Given the description of an element on the screen output the (x, y) to click on. 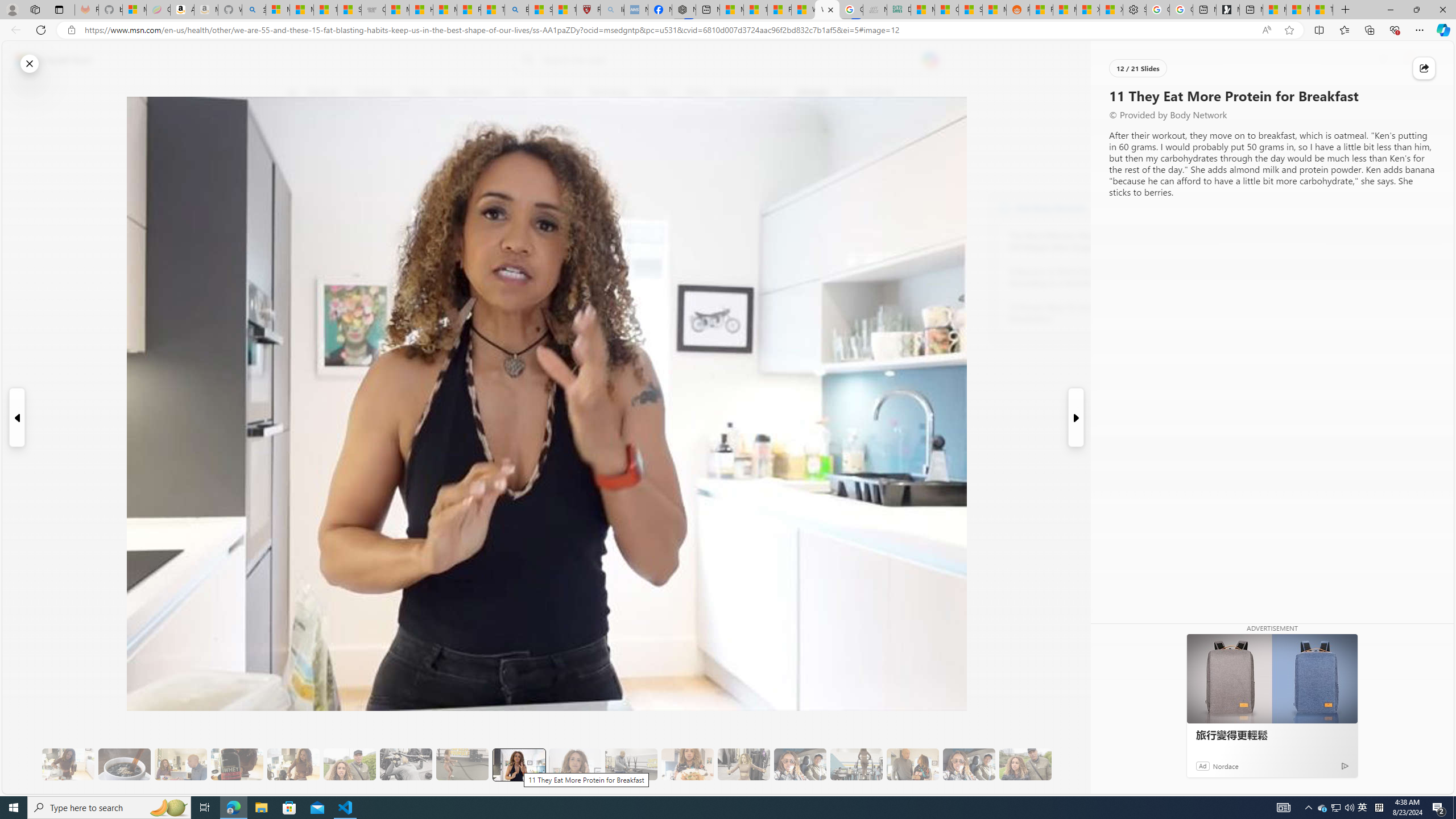
Body Network (1004, 207)
18 It's More Fun Doing It with Someone Else (912, 764)
Food & Drink (869, 92)
11 They Eat More Protein for Breakfast (519, 764)
Bing (515, 9)
3 They Drink Lemon Tea (68, 764)
13 Her Husband Does Group Cardio Classs (631, 764)
Follow (518, 146)
11 They Eat More Protein for Breakfast (518, 764)
